Given the description of an element on the screen output the (x, y) to click on. 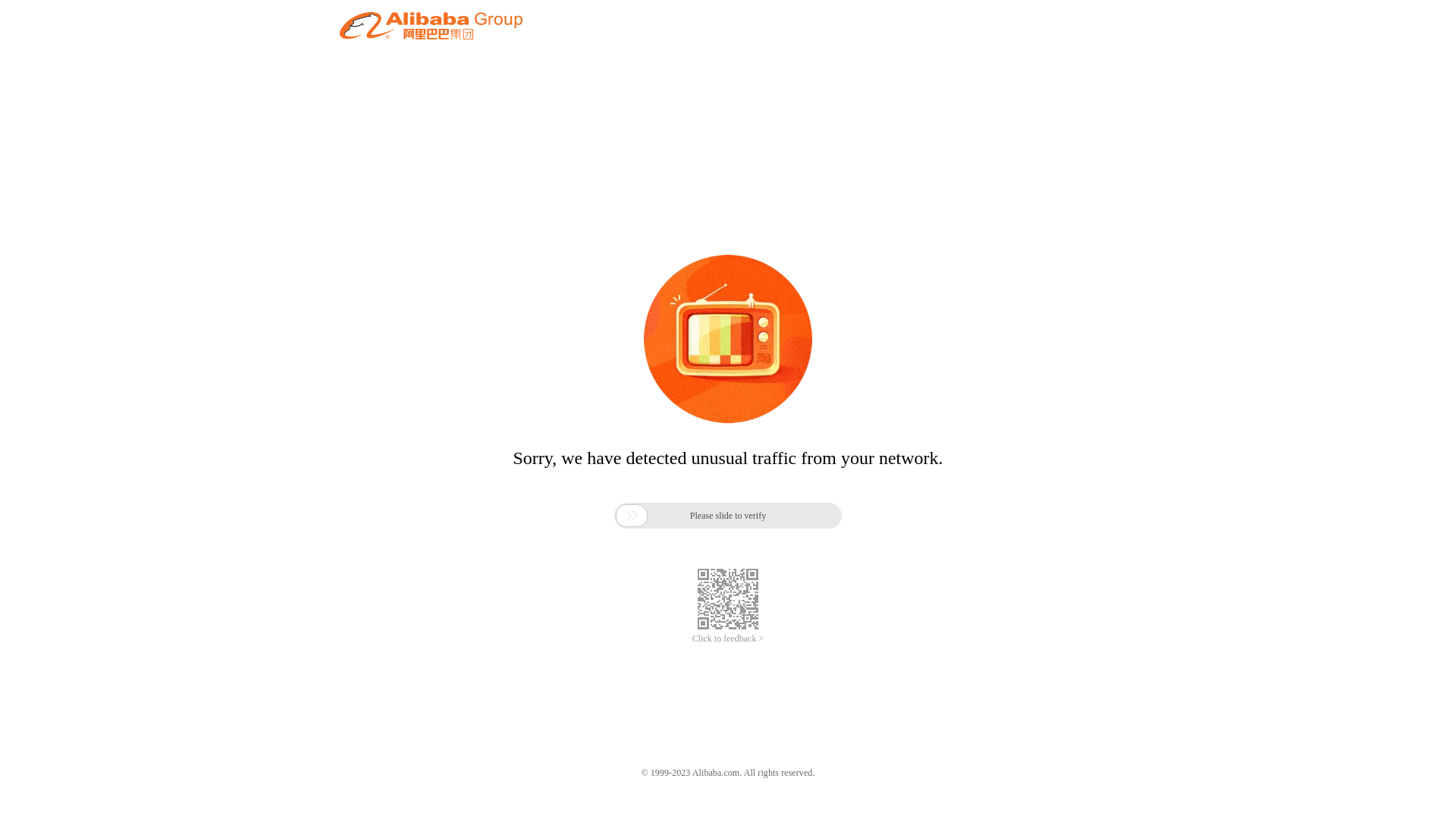
Click to feedback > Element type: text (727, 638)
